Given the description of an element on the screen output the (x, y) to click on. 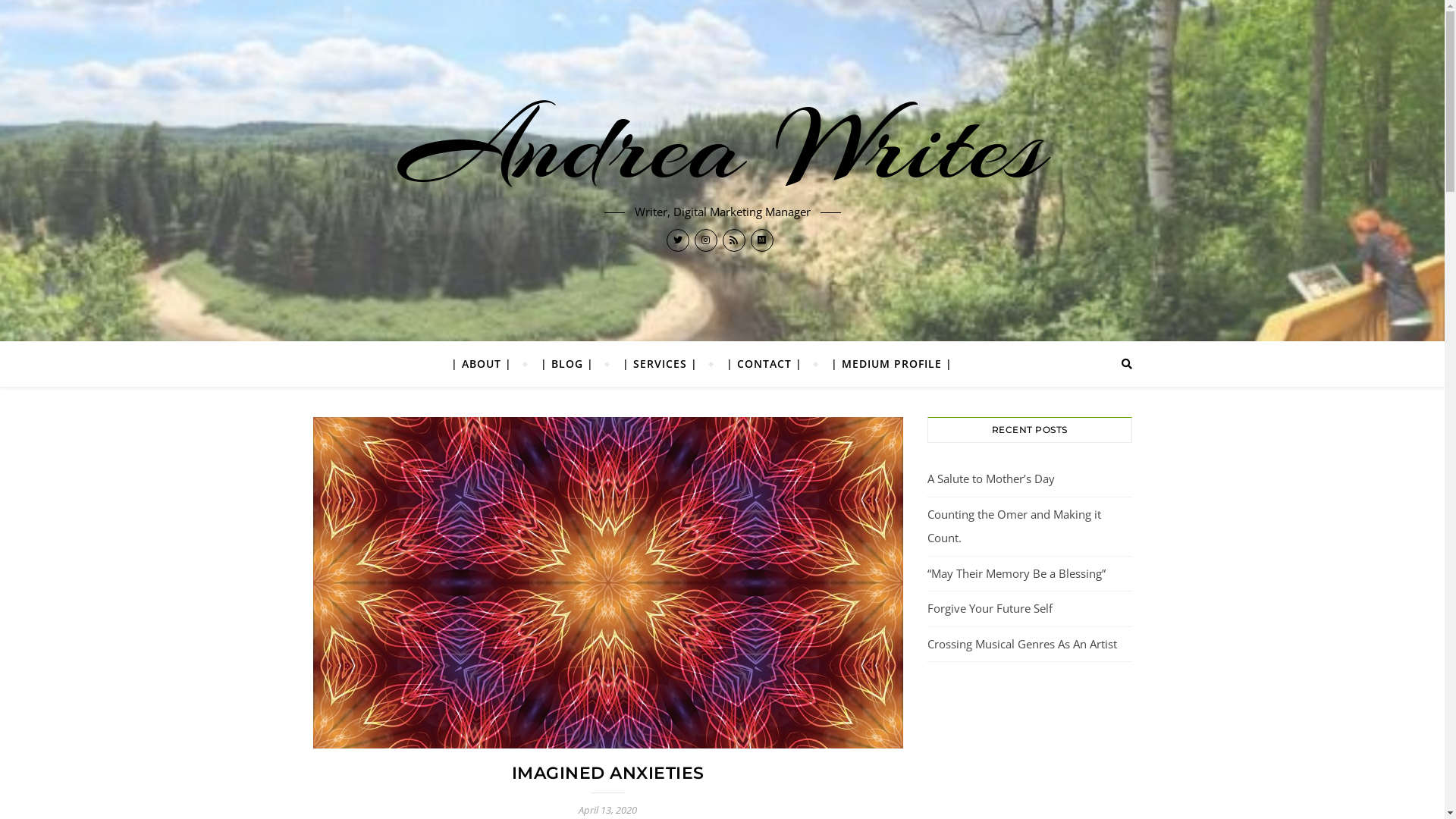
| ABOUT | Element type: text (487, 363)
Crossing Musical Genres As An Artist Element type: text (1021, 642)
| CONTACT | Element type: text (763, 363)
Counting the Omer and Making it Count. Element type: text (1013, 526)
Forgive Your Future Self Element type: text (988, 607)
Andrea Writes Element type: text (722, 144)
| MEDIUM PROFILE | Element type: text (884, 363)
| SERVICES | Element type: text (659, 363)
| BLOG | Element type: text (566, 363)
